Given the description of an element on the screen output the (x, y) to click on. 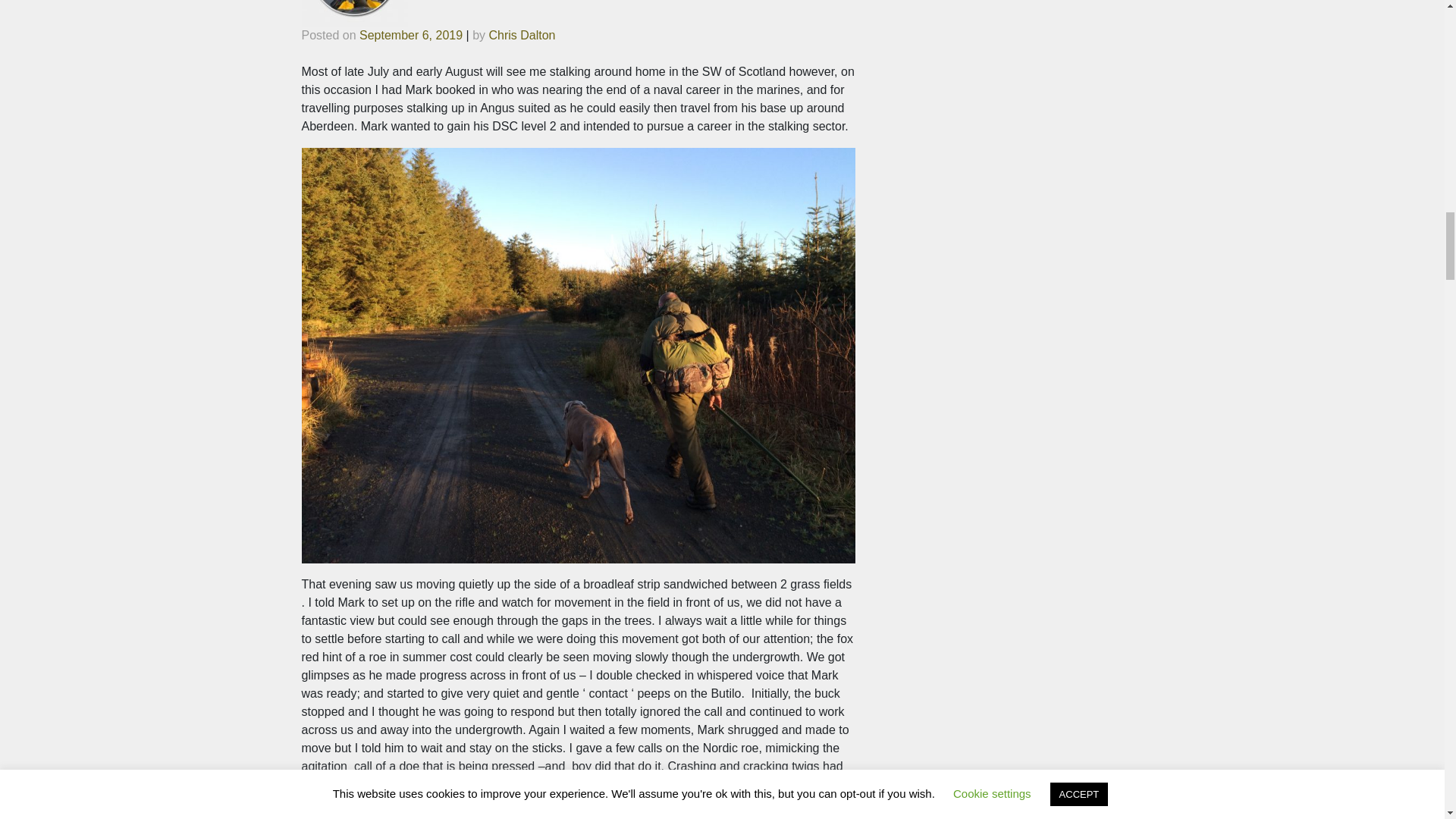
September 6, 2019 (411, 34)
